Given the description of an element on the screen output the (x, y) to click on. 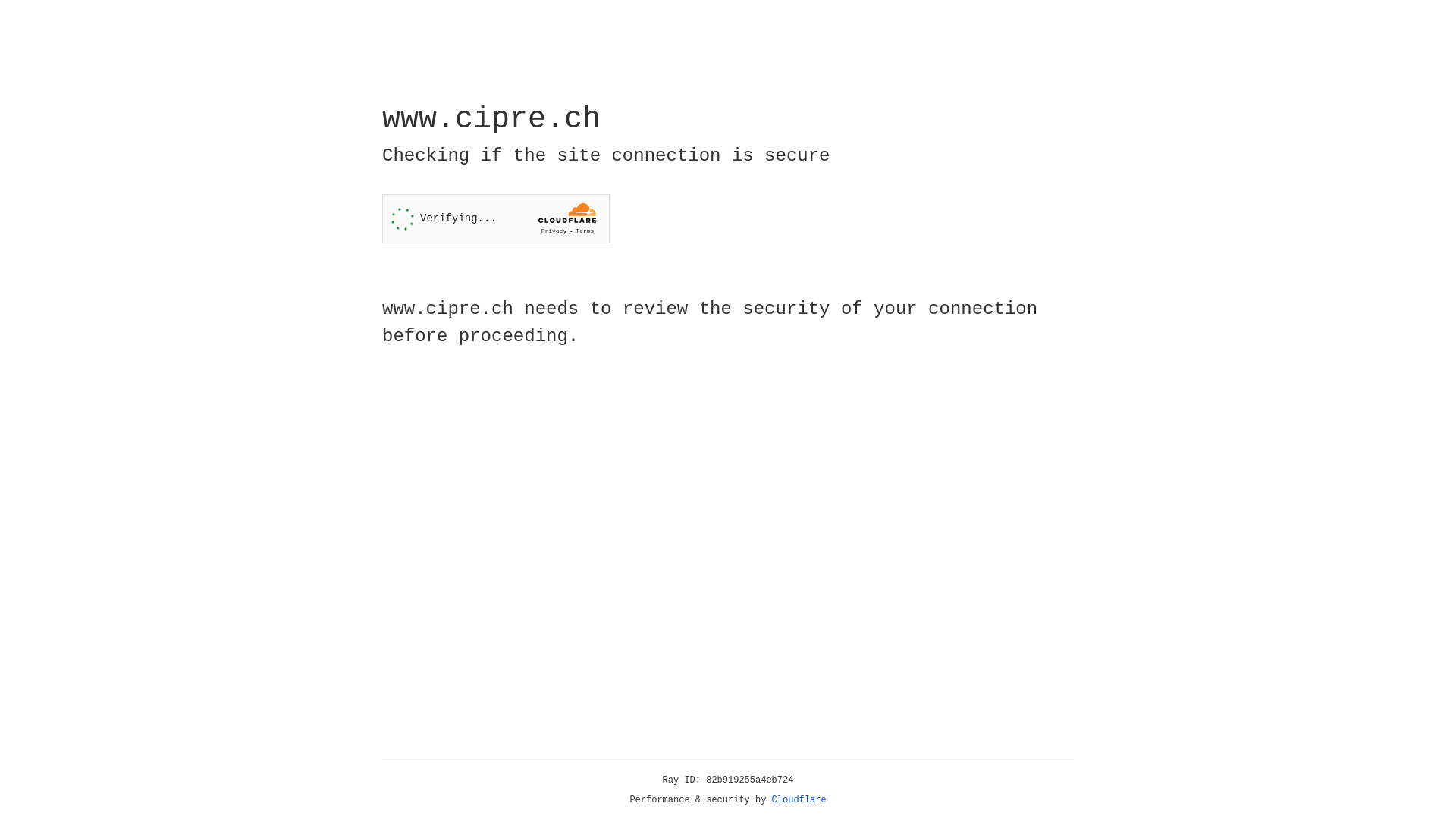
Cloudflare Element type: text (798, 799)
Widget containing a Cloudflare security challenge Element type: hover (495, 218)
